Given the description of an element on the screen output the (x, y) to click on. 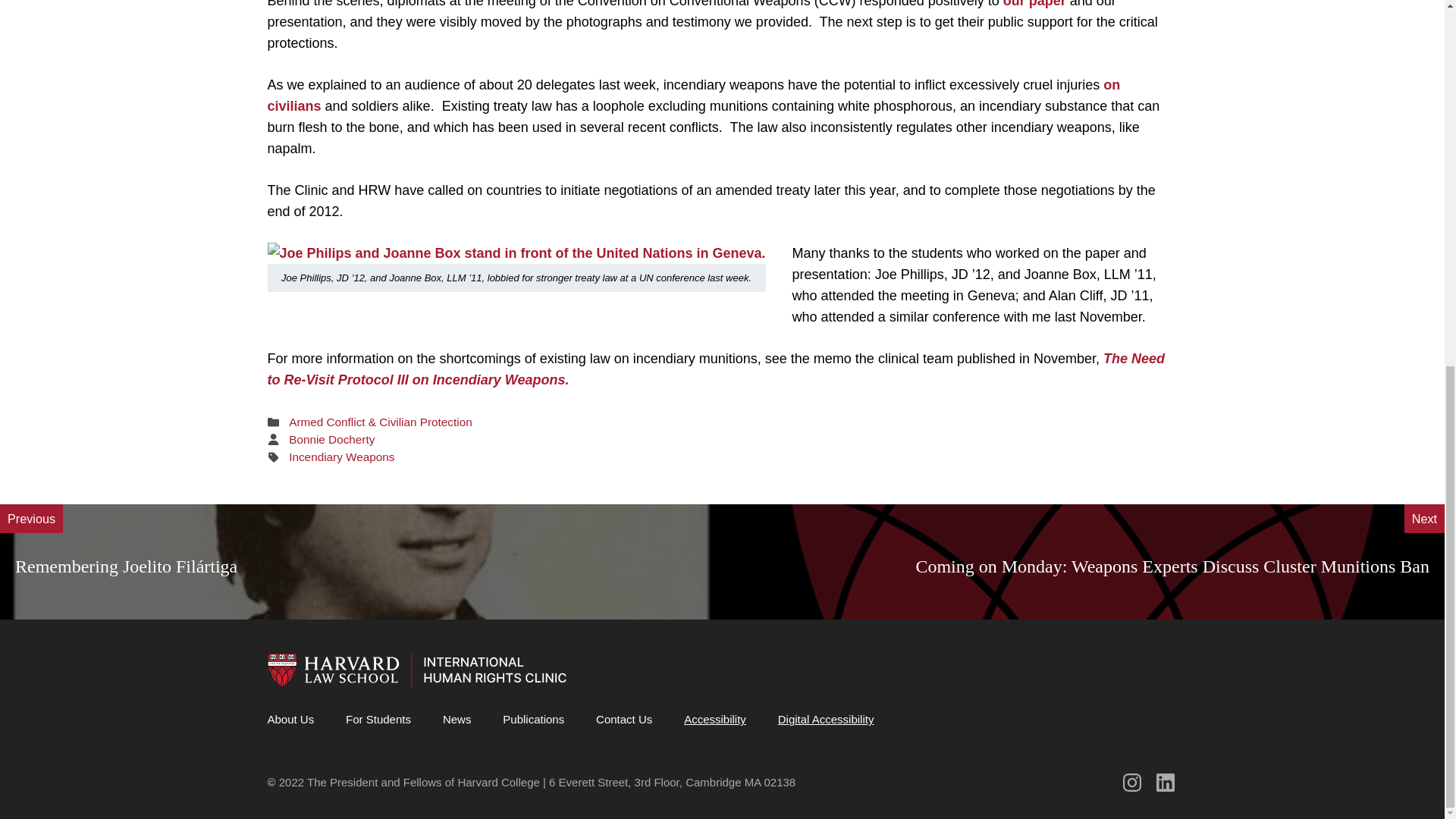
Instagram (1130, 782)
Contact Us (623, 718)
The Need to Re-Visit Protocol III on Incendiary Weapons. (715, 369)
LinkedIn (1164, 782)
Accessibility (714, 718)
Bonnie Docherty (331, 439)
Digital Accessibility (826, 718)
Incendiary Weapons (341, 456)
on civilians (692, 94)
About Us (290, 718)
News (456, 718)
For Students (378, 718)
our paper (1034, 4)
Publications (533, 718)
